Given the description of an element on the screen output the (x, y) to click on. 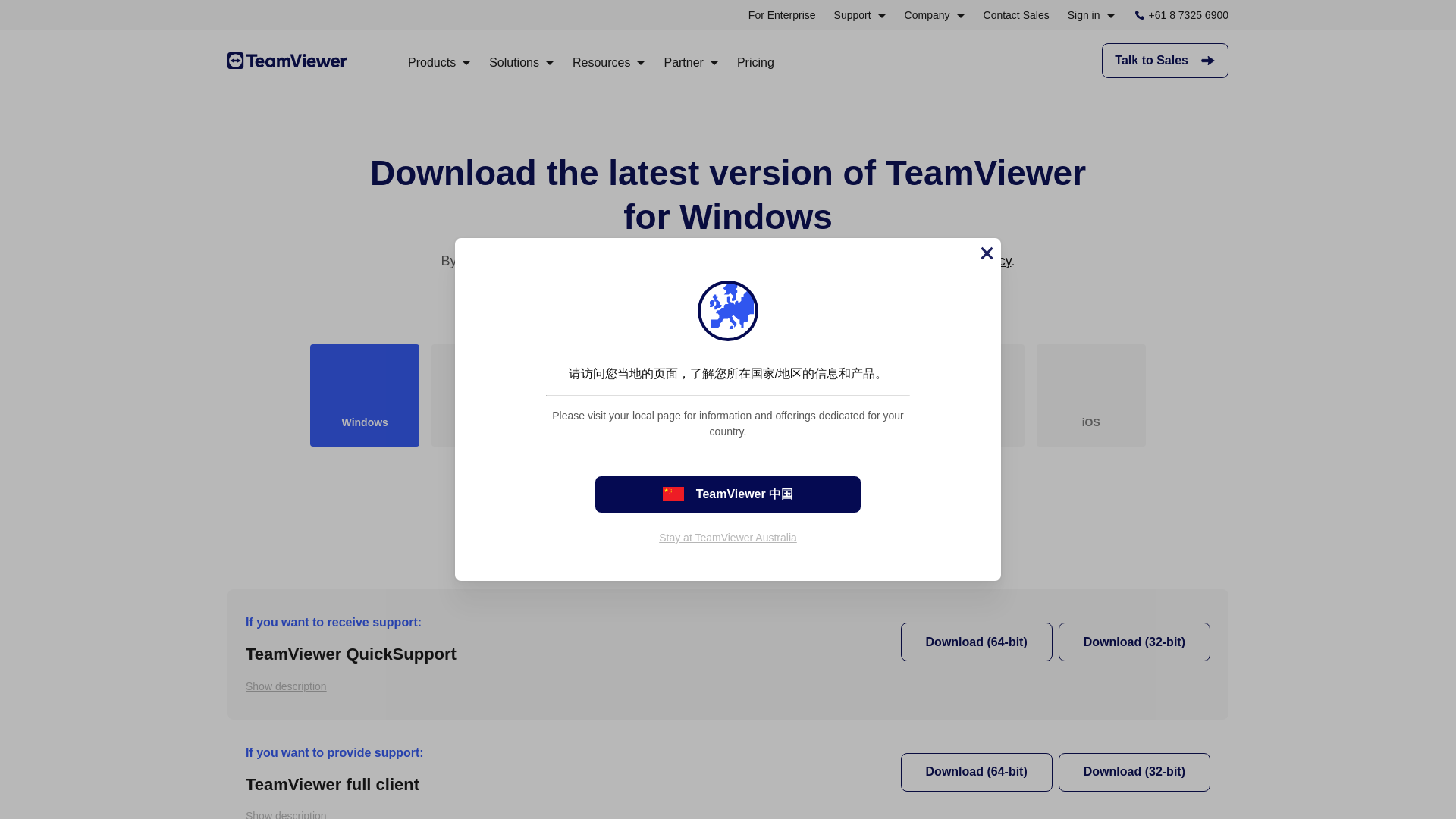
Stay at TeamViewer Australia (727, 537)
For Enterprise (781, 15)
Sign in (1091, 15)
Contact Sales (1016, 15)
Products (438, 62)
Company (934, 15)
Support (860, 15)
